Given the description of an element on the screen output the (x, y) to click on. 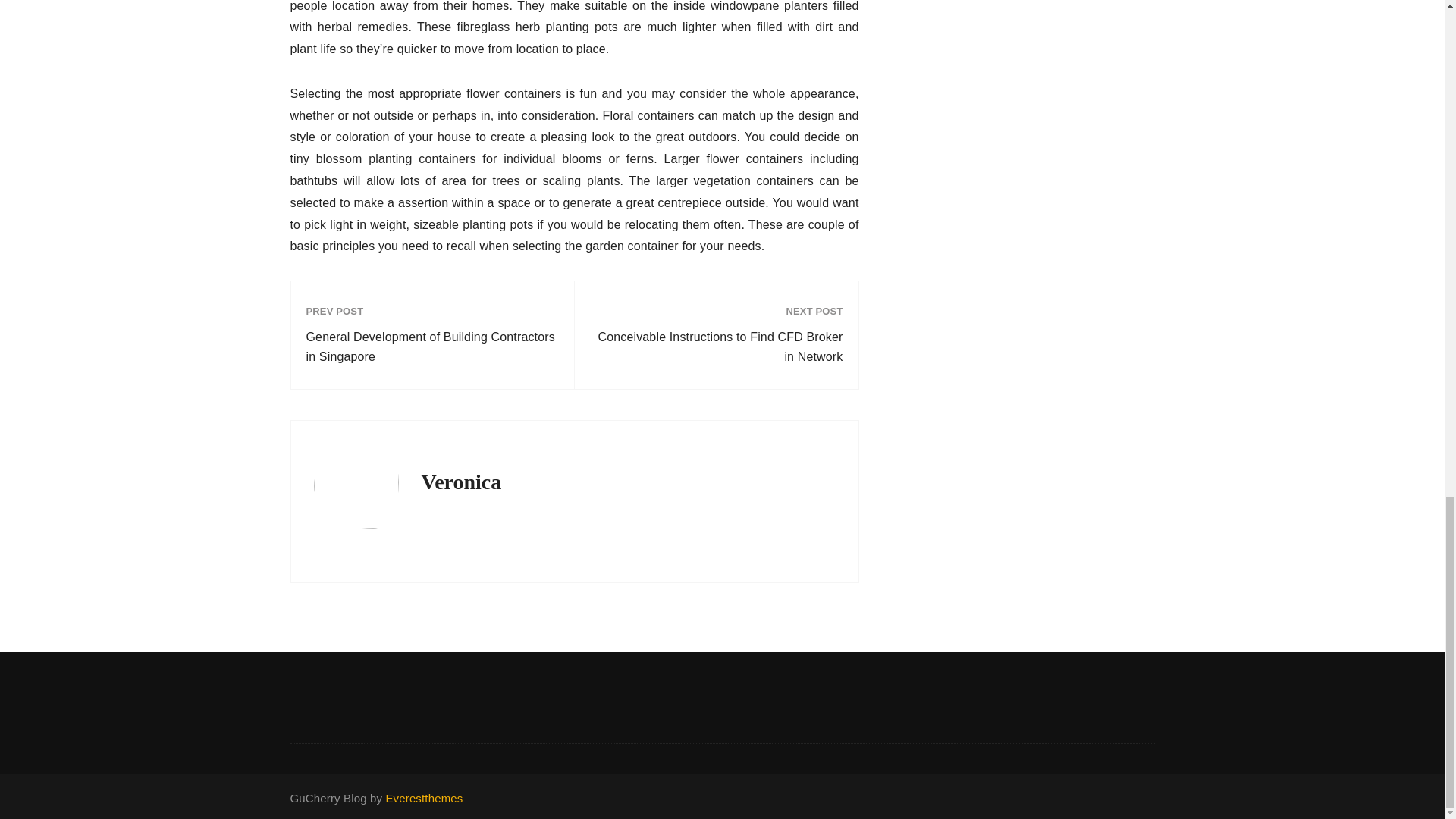
Everestthemes (424, 797)
General Development of Building Contractors in Singapore (432, 346)
Conceivable Instructions to Find CFD Broker in Network (716, 346)
